Given the description of an element on the screen output the (x, y) to click on. 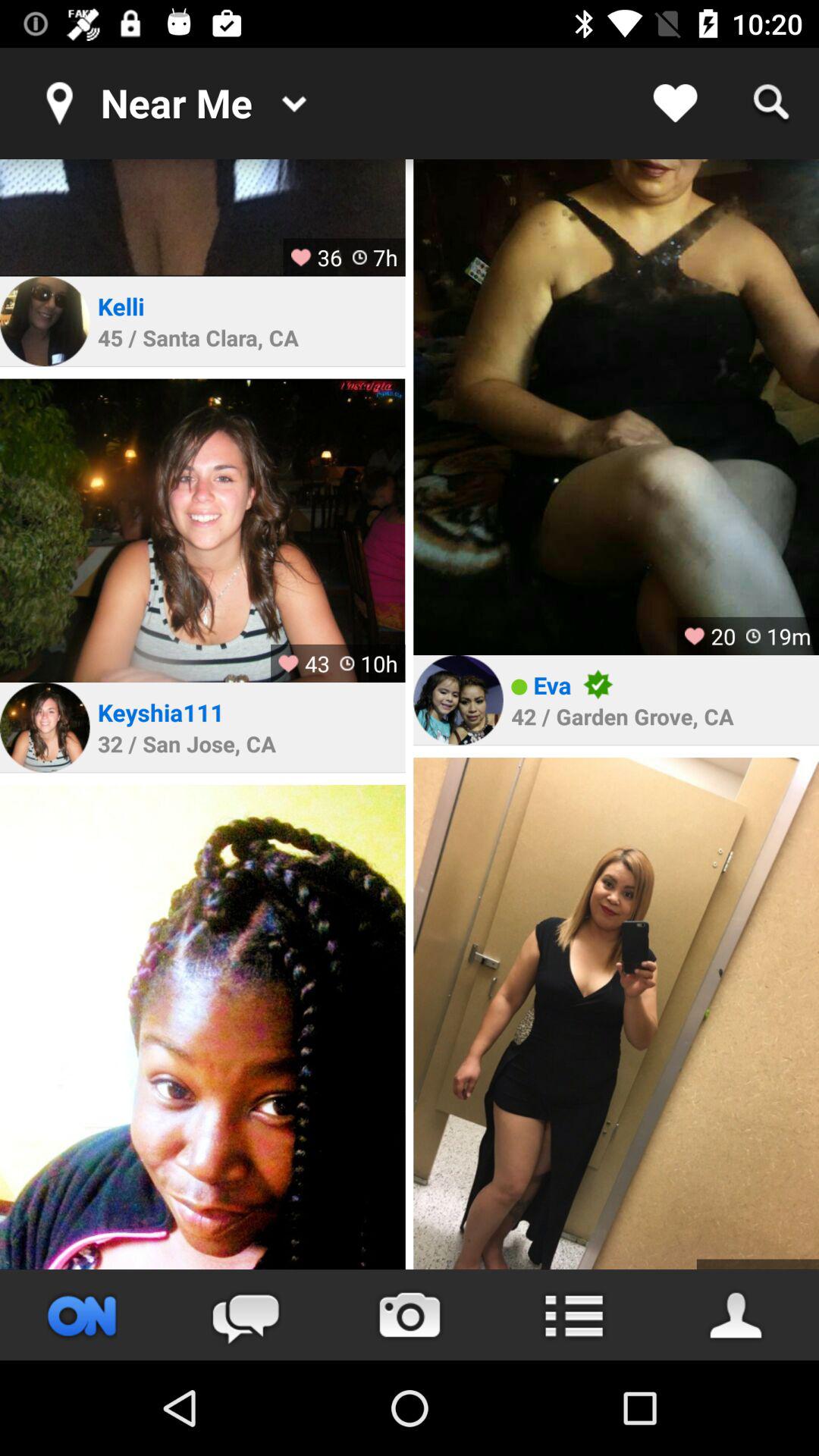
profile picture (616, 407)
